Given the description of an element on the screen output the (x, y) to click on. 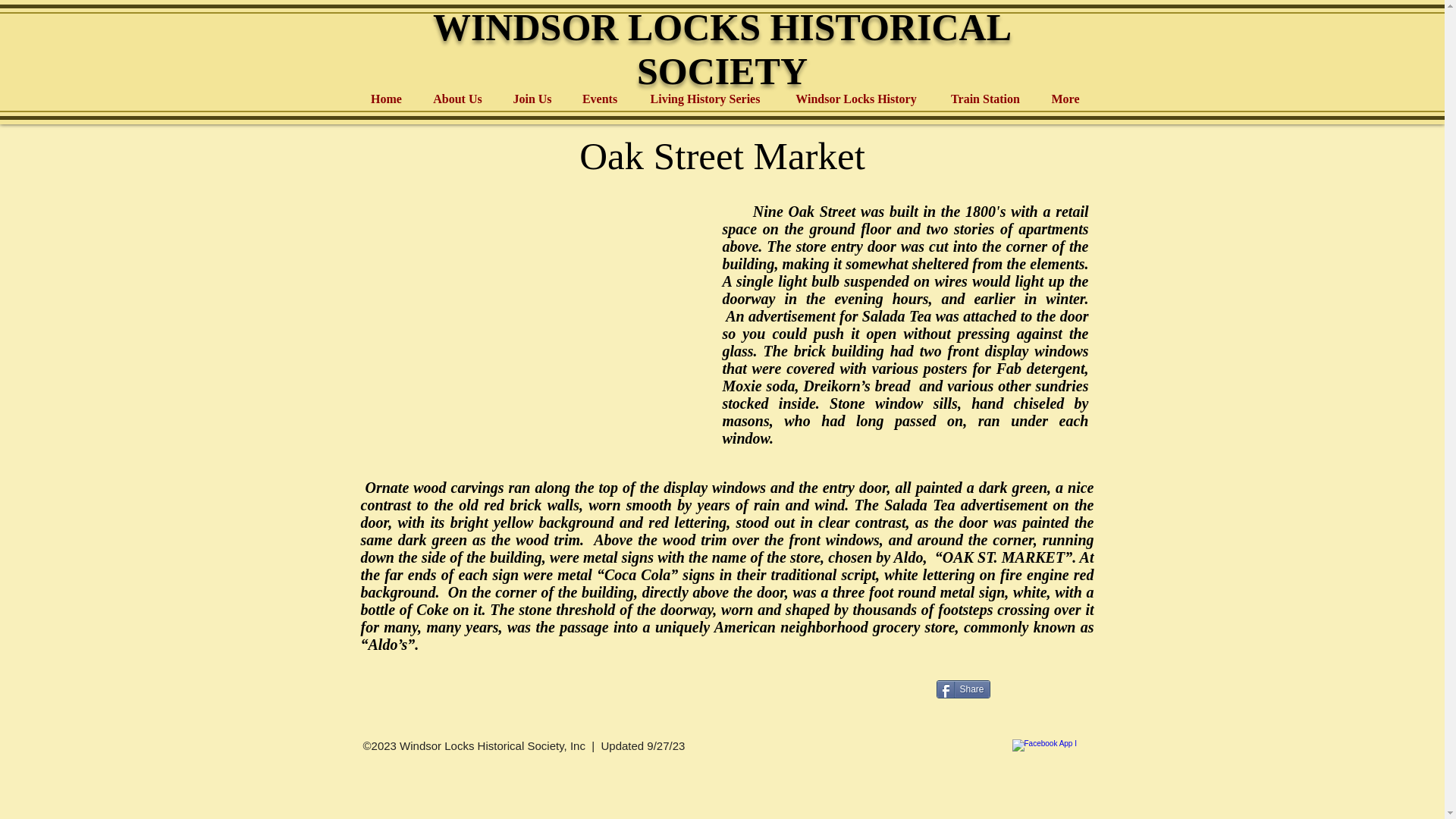
Share (963, 689)
Share (963, 689)
WINDSOR LOCKS HISTORICAL SOCIETY (721, 48)
Train Station (984, 98)
Home (385, 98)
Living History Series (704, 98)
